Given the description of an element on the screen output the (x, y) to click on. 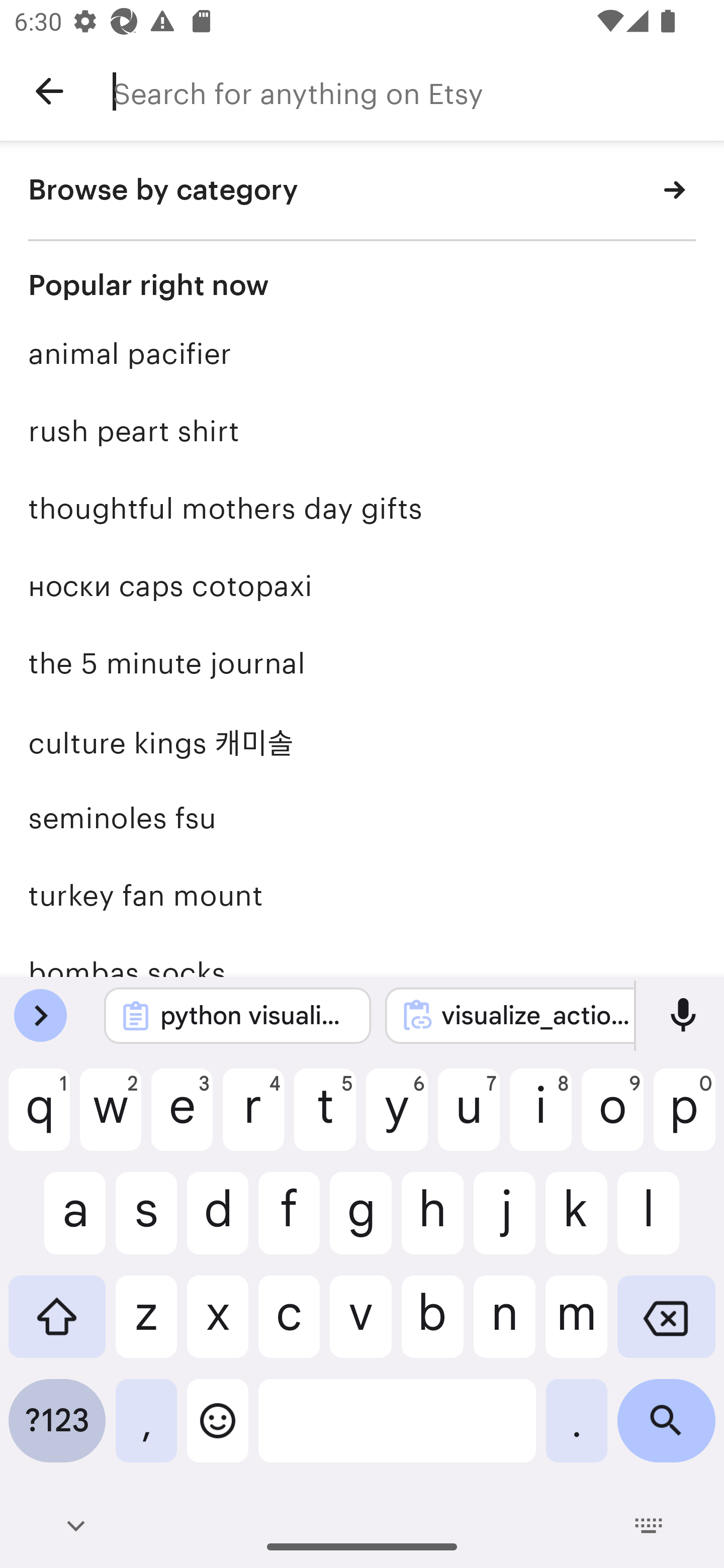
Navigate up (49, 91)
Search for anything on Etsy (418, 91)
Browse by category (362, 191)
animal pacifier (362, 353)
rush peart shirt (362, 431)
thoughtful mothers day gifts (362, 508)
носки caps cotopaxi (362, 585)
the 5 minute journal (362, 663)
culture kings 캐미솔 (362, 740)
seminoles fsu (362, 817)
turkey fan mount (362, 895)
